Given the description of an element on the screen output the (x, y) to click on. 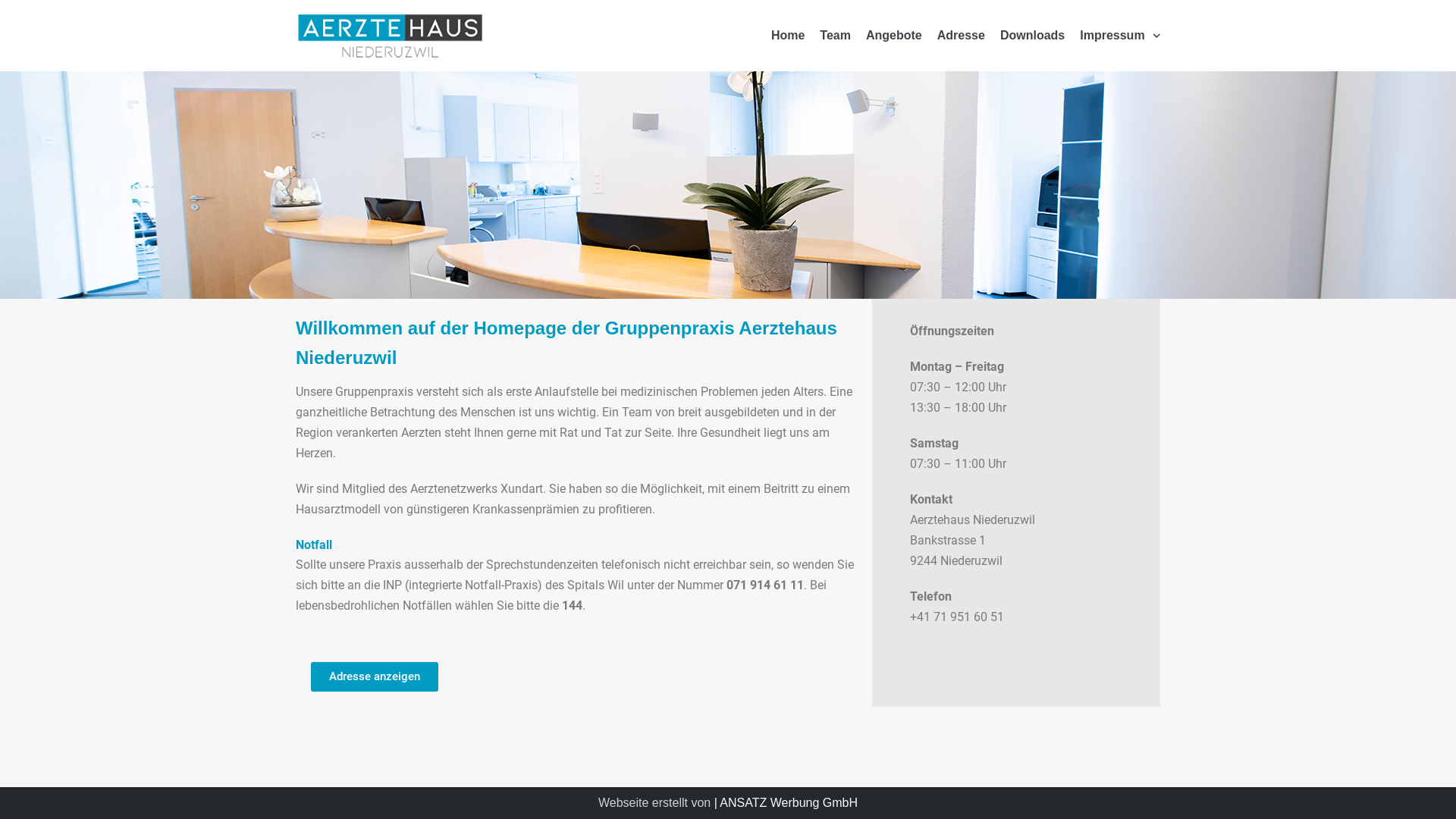
Impressum Element type: text (1119, 35)
Downloads Element type: text (1032, 35)
Aerztehaus Niederuzwil Element type: hover (390, 35)
Adresse anzeigen Element type: text (374, 676)
Angebote Element type: text (894, 35)
Zum Inhalt Element type: text (15, 7)
Team Element type: text (834, 35)
Webseite erstellt von Element type: text (654, 802)
Home Element type: text (787, 35)
Adresse Element type: text (961, 35)
